Given the description of an element on the screen output the (x, y) to click on. 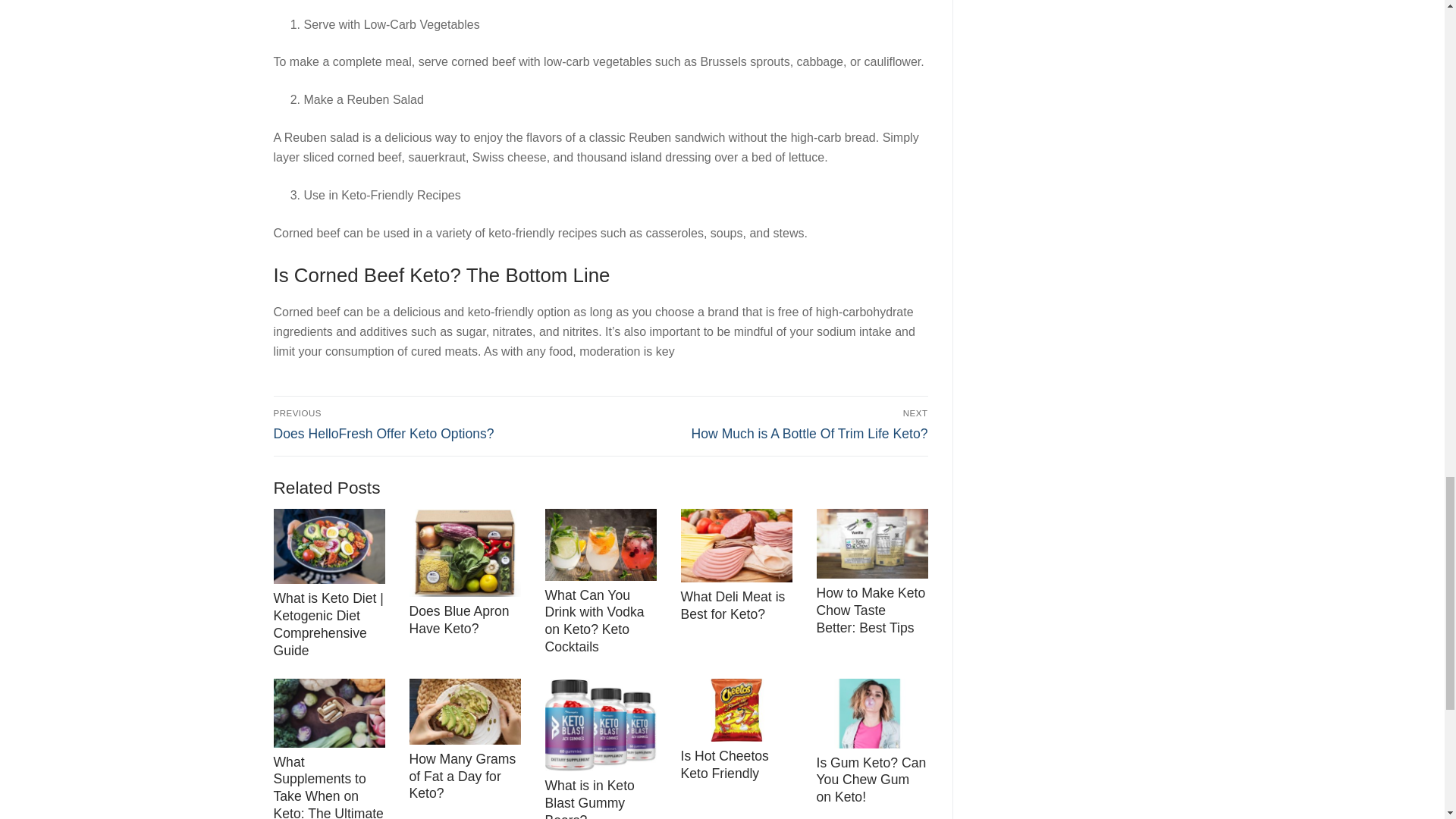
How to Make Keto Chow Taste Better: Best Tips (767, 424)
Does Blue Apron Have Keto? (869, 610)
What Supplements to Take When on Keto: The Ultimate Guide (465, 552)
What Can You Drink with Vodka on Keto? Keto Cocktails (327, 786)
How Many Grams of Fat a Day for Keto? (593, 621)
Does Blue Apron Have Keto? (433, 424)
What Deli Meat is Best for Keto? (462, 776)
What is in Keto Blast Gummy Bears? (459, 619)
